Given the description of an element on the screen output the (x, y) to click on. 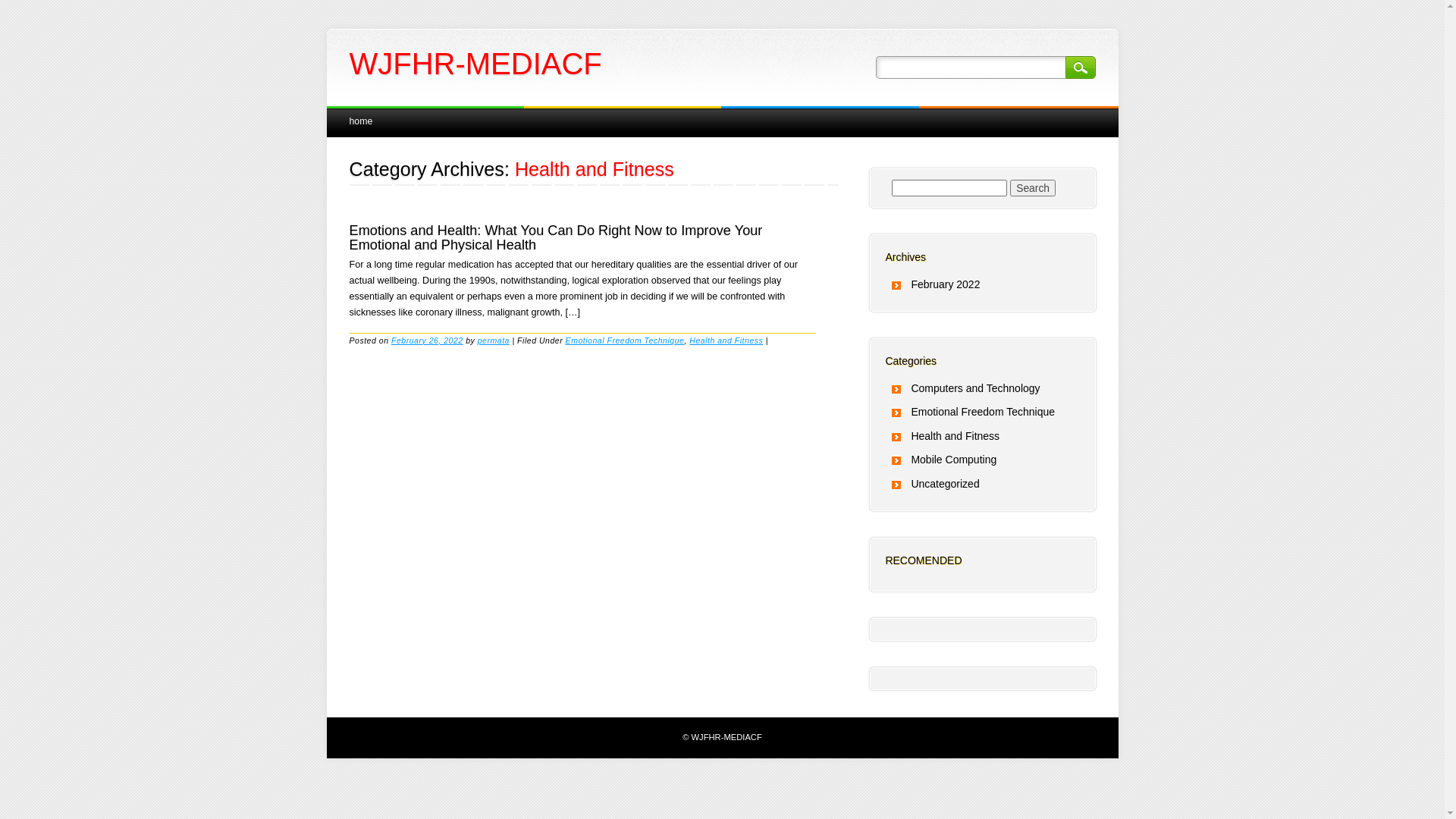
Search Element type: text (1079, 67)
Health and Fitness Element type: text (954, 435)
Uncategorized Element type: text (944, 483)
Health and Fitness Element type: text (725, 339)
Mobile Computing Element type: text (953, 459)
permata Element type: text (493, 339)
Emotional Freedom Technique Element type: text (982, 411)
home Element type: text (360, 121)
Computers and Technology Element type: text (974, 388)
February 26, 2022 Element type: text (427, 339)
Search Element type: text (1032, 187)
WJFHR-MEDIACF Element type: text (474, 63)
February 2022 Element type: text (944, 284)
Skip to content Element type: text (361, 113)
Emotional Freedom Technique Element type: text (624, 339)
